Given the description of an element on the screen output the (x, y) to click on. 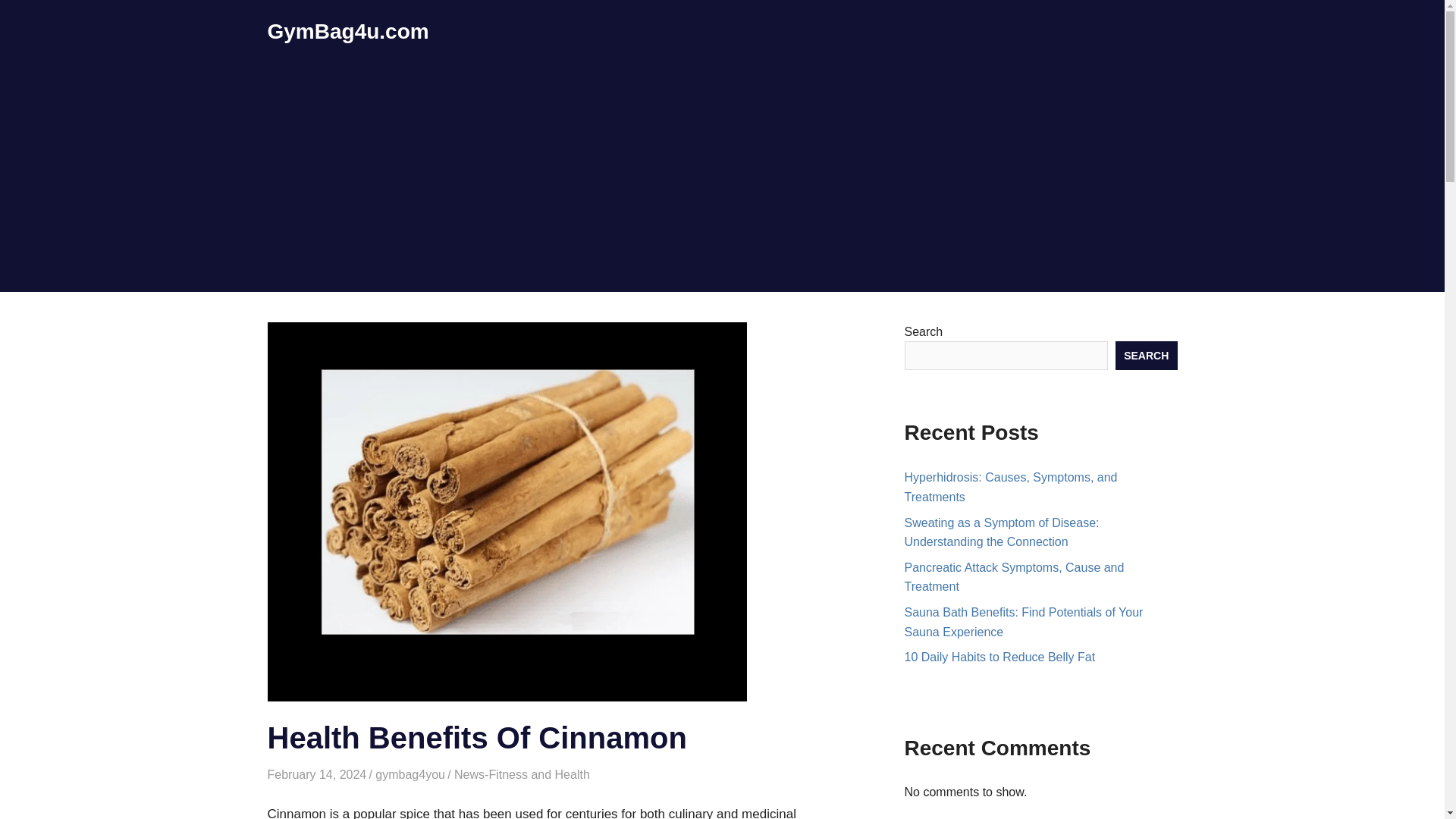
7:25 pm (316, 774)
gymbag4you (410, 774)
February 14, 2024 (316, 774)
Pancreatic Attack Symptoms, Cause and Treatment (1014, 577)
View all posts by gymbag4you (410, 774)
News-Fitness and Health (521, 774)
10 Daily Habits to Reduce Belly Fat (999, 656)
GymBag4u.com (347, 31)
